Given the description of an element on the screen output the (x, y) to click on. 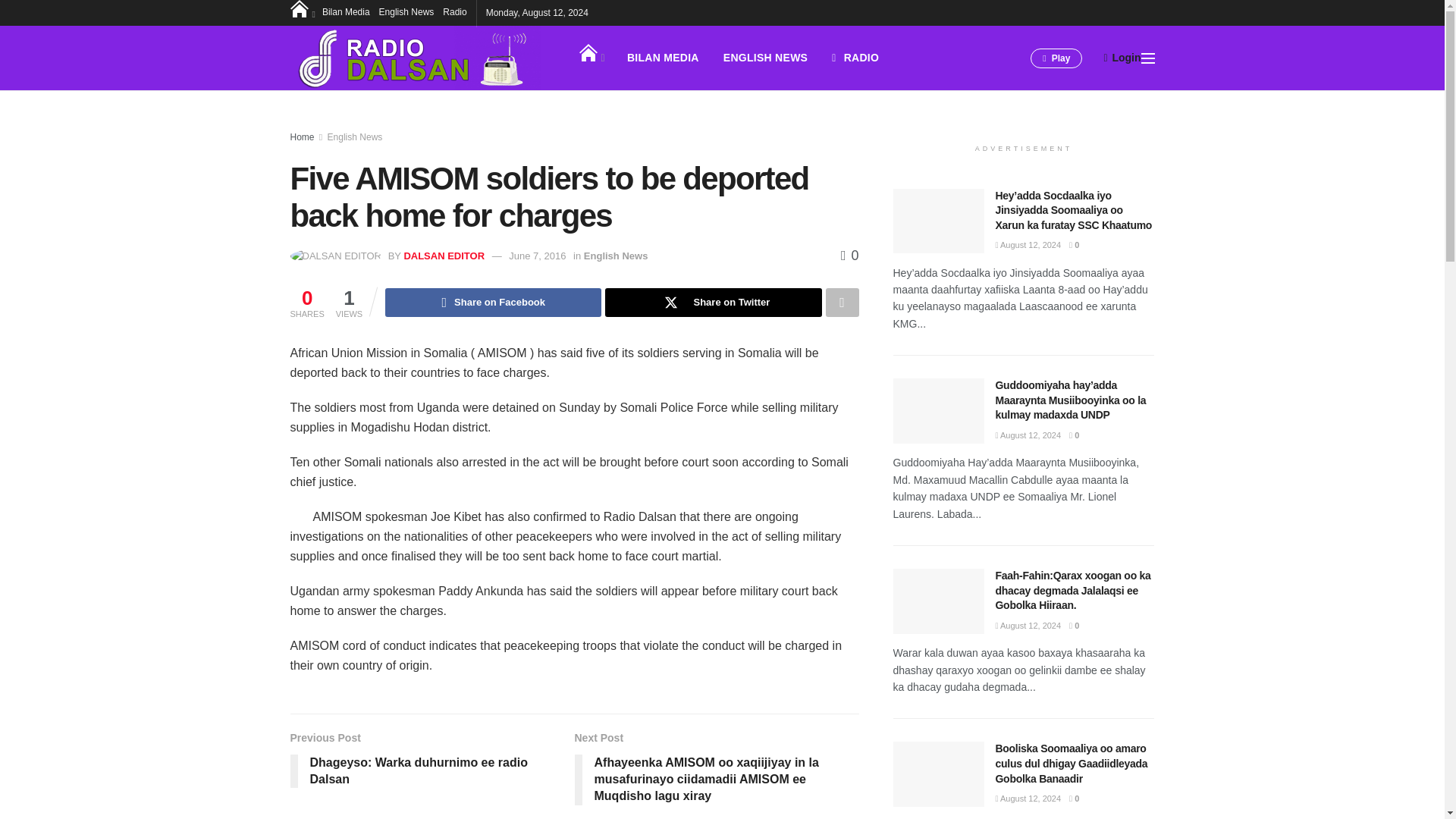
ENGLISH NEWS (765, 57)
Share on Facebook (493, 302)
BILAN MEDIA (662, 57)
RADIO (855, 57)
Play (1055, 57)
0 (850, 255)
June 7, 2016 (537, 255)
Bilan Media (345, 12)
Share on Twitter (713, 302)
DALSAN EDITOR (443, 255)
